Given the description of an element on the screen output the (x, y) to click on. 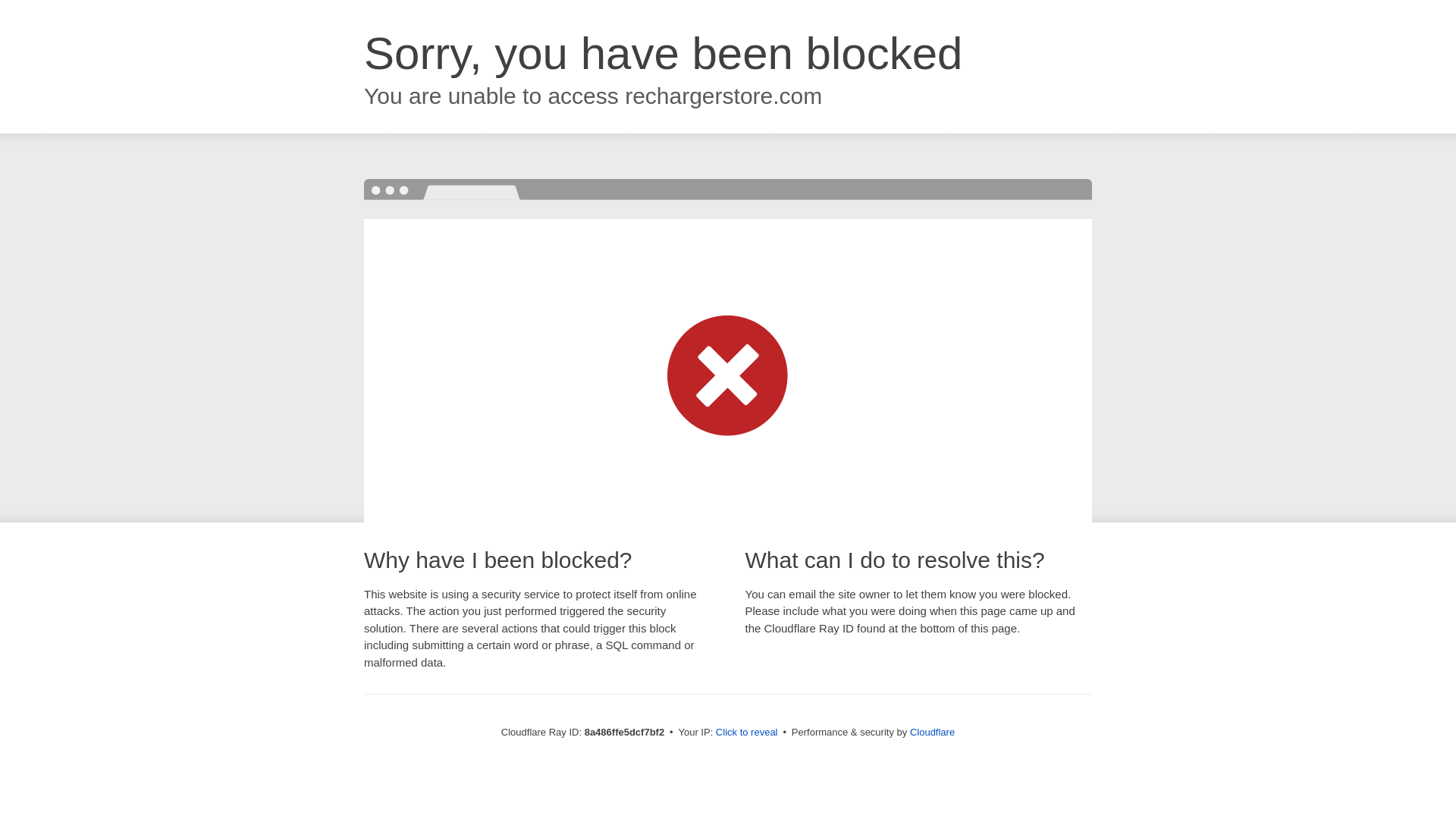
Click to reveal (746, 732)
Cloudflare (932, 731)
